Given the description of an element on the screen output the (x, y) to click on. 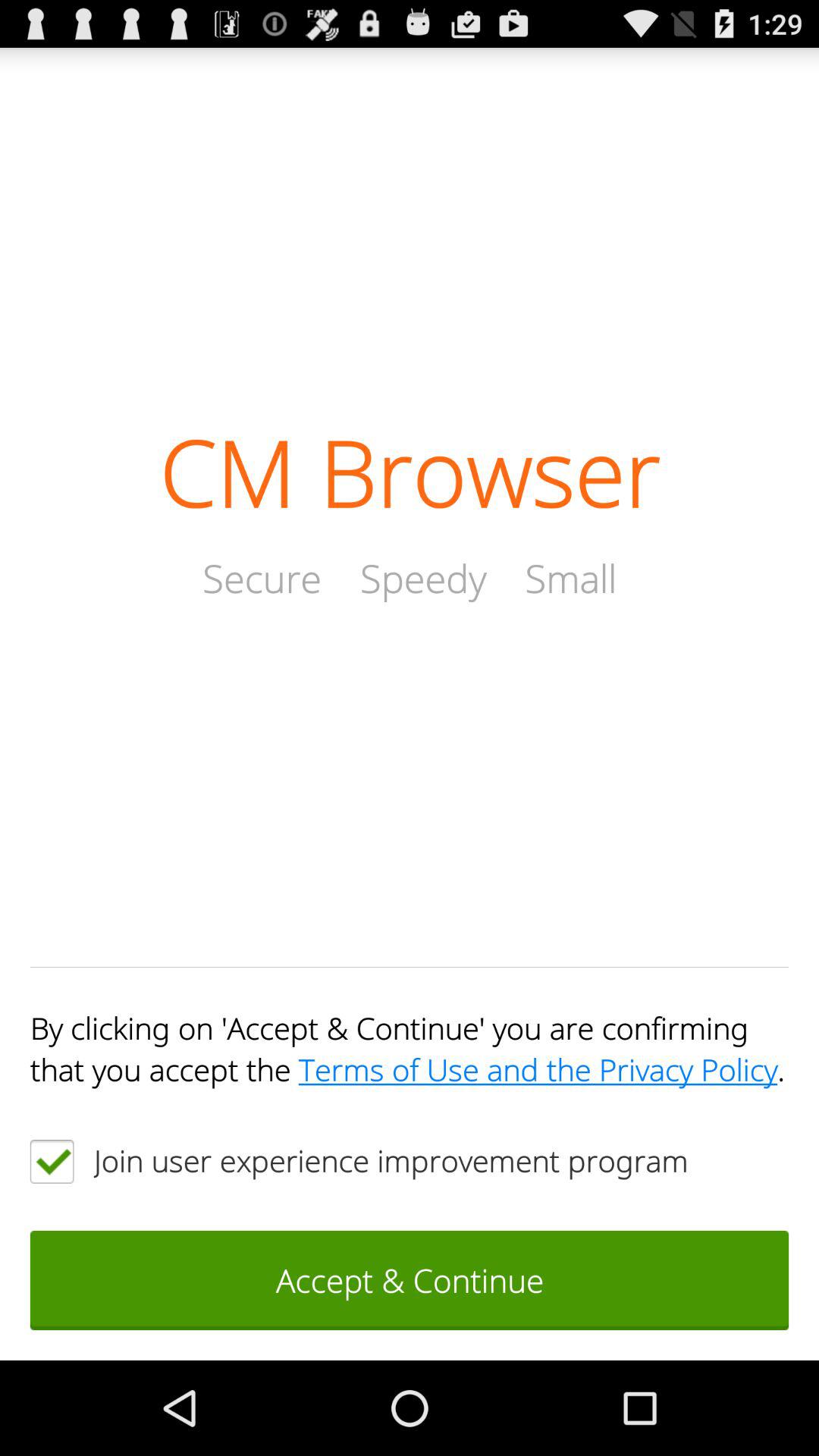
launch item next to join user experience app (51, 1161)
